Given the description of an element on the screen output the (x, y) to click on. 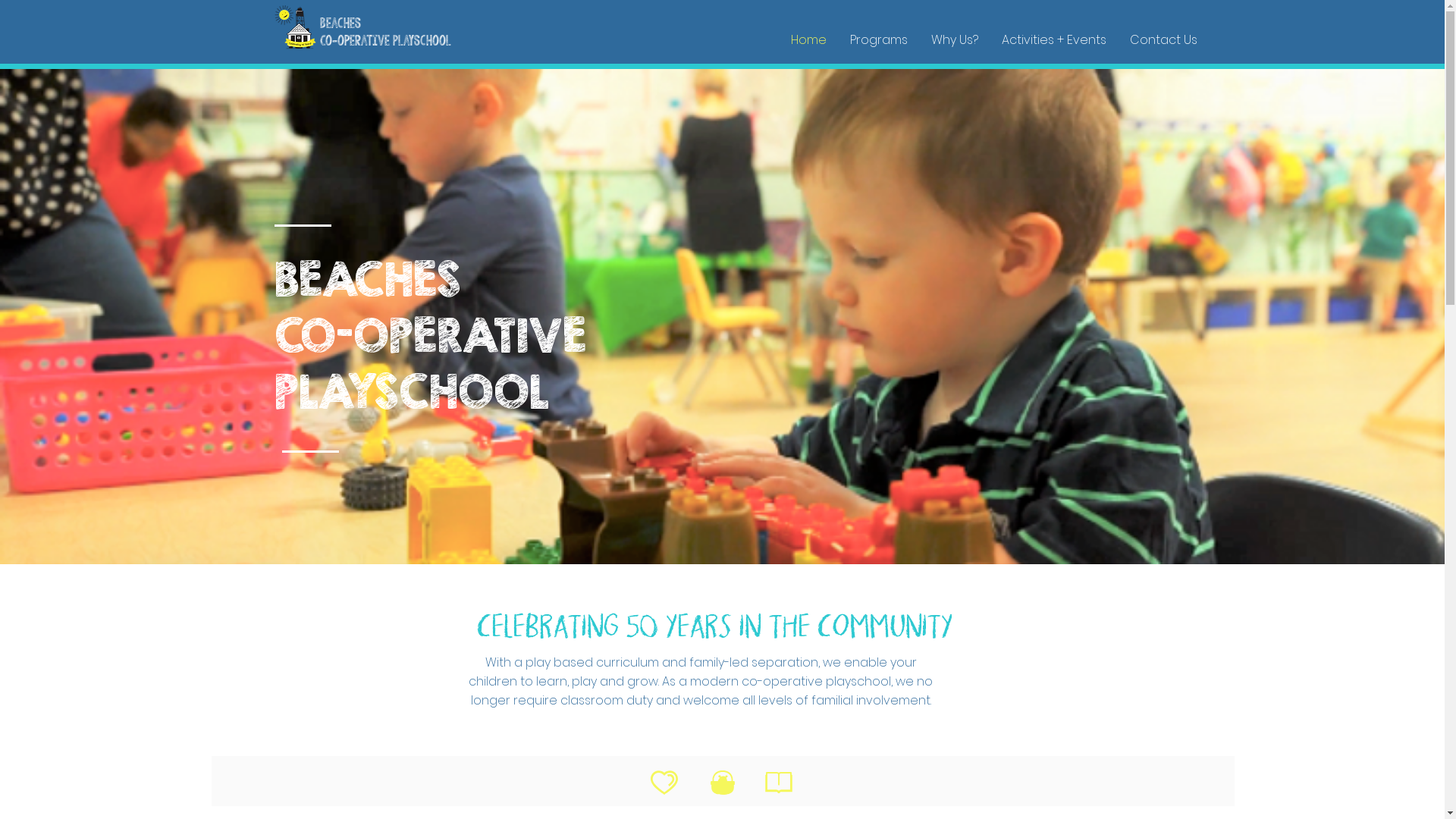
Why Us? Element type: text (953, 40)
Home Element type: text (808, 40)
Co-operative Playschool Element type: text (385, 39)
Programs Element type: text (878, 40)
CO-OPERATIVE Element type: text (430, 335)
Contact Us Element type: text (1162, 40)
PLAYSCHOOL Element type: text (411, 391)
BEACHES Element type: text (367, 279)
Activities + Events Element type: text (1053, 40)
Beaches Element type: text (340, 25)
